Given the description of an element on the screen output the (x, y) to click on. 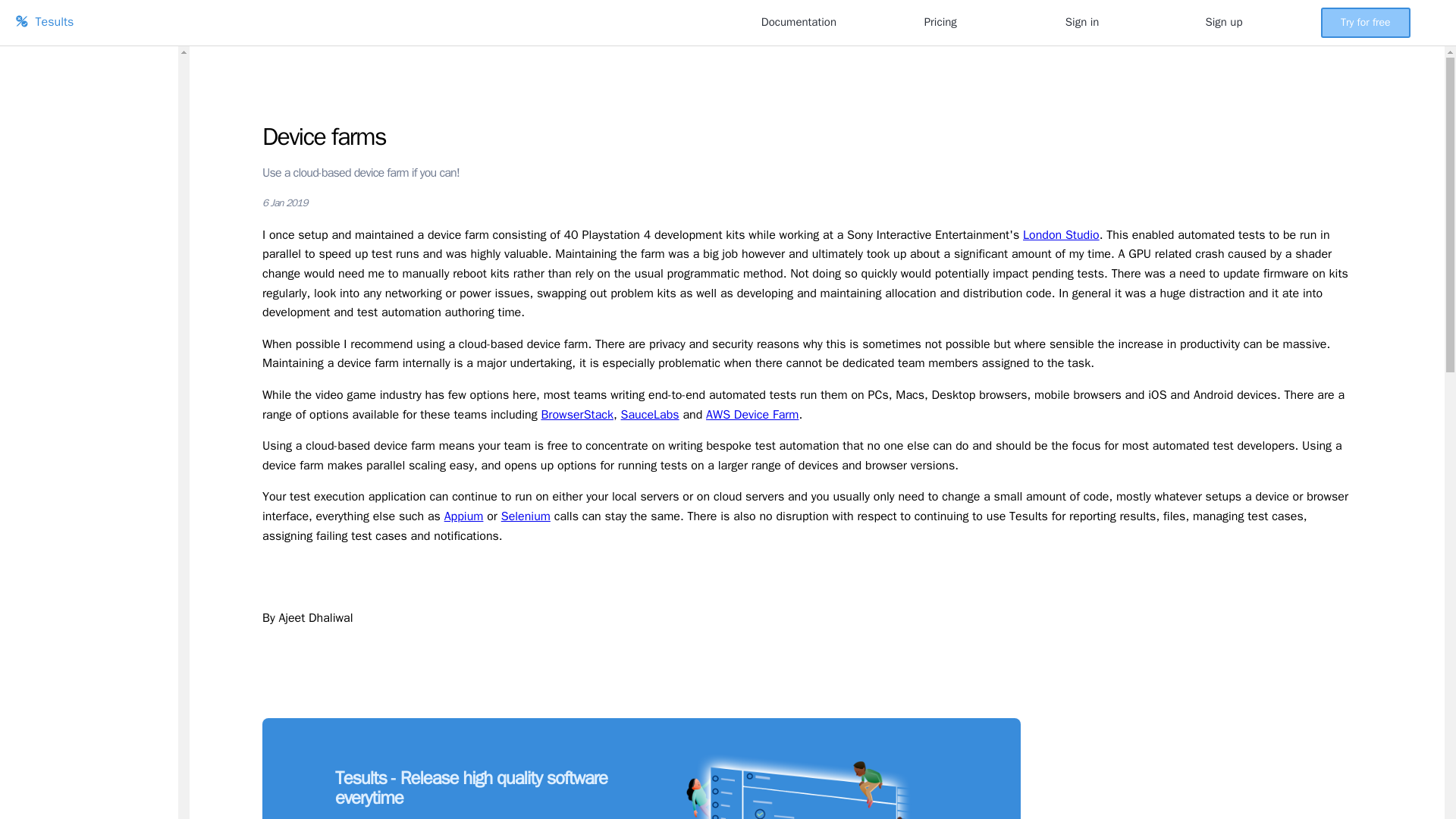
Documentation (798, 21)
  Tesults (372, 22)
Try for free (1365, 21)
Sign up (1223, 21)
Try for free (1365, 22)
Sign in (1082, 21)
Pricing (940, 21)
